Given the description of an element on the screen output the (x, y) to click on. 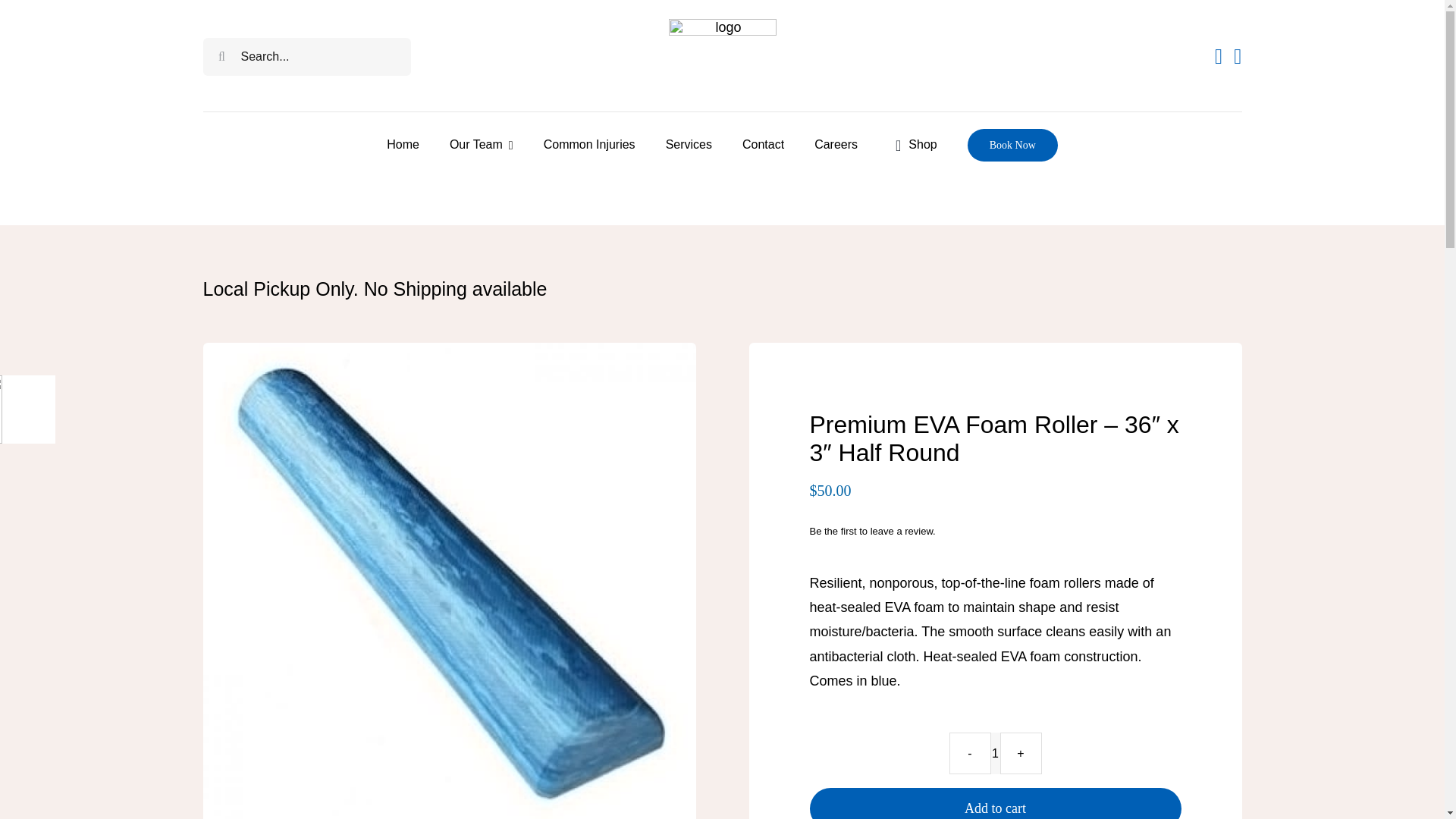
Common Injuries (588, 144)
Our Team (481, 144)
Book Now (1013, 144)
- (970, 752)
Add to cart (994, 803)
Be the first to leave a review. (872, 530)
Careers (835, 144)
Services (688, 144)
Home (403, 144)
logo (722, 56)
Contact (763, 144)
Log In (1176, 225)
Shop (912, 144)
